Given the description of an element on the screen output the (x, y) to click on. 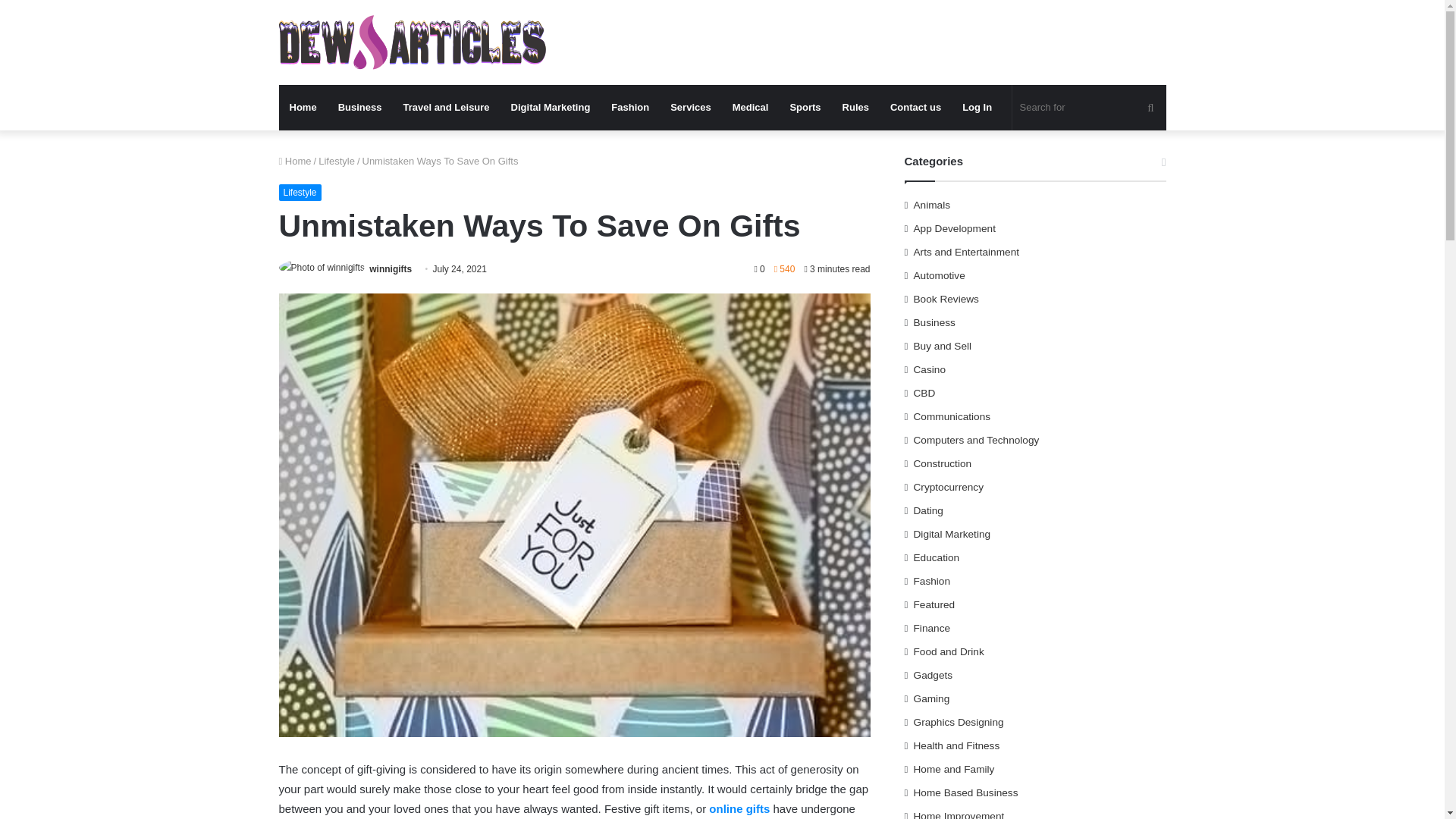
winnigifts (390, 268)
Lifestyle (336, 161)
Log In (977, 107)
Rules (855, 107)
Digital Marketing (550, 107)
Home (295, 161)
online gifts (739, 808)
Fashion (629, 107)
Business (360, 107)
Search for (1088, 107)
